Given the description of an element on the screen output the (x, y) to click on. 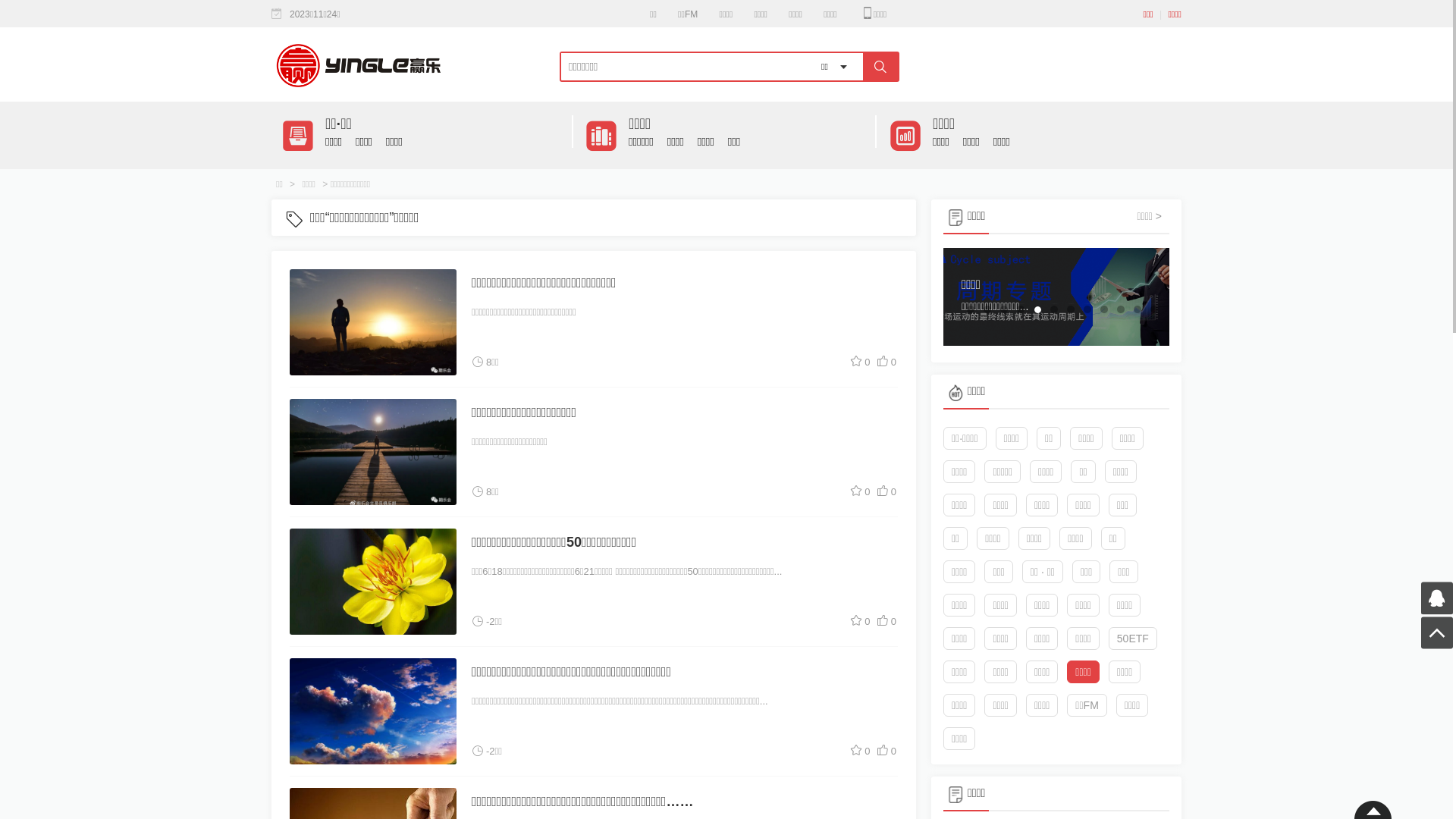
6 Element type: text (1054, 309)
8 Element type: text (1087, 309)
1 Element type: text (970, 309)
4 Element type: text (1020, 309)
10 Element type: text (1120, 309)
5 Element type: text (1037, 309)
12 Element type: text (1154, 309)
3 Element type: text (1003, 309)
7 Element type: text (1070, 309)
11 Element type: text (1137, 309)
13 Element type: text (1154, 335)
2 Element type: text (987, 309)
9 Element type: text (1104, 309)
